Given the description of an element on the screen output the (x, y) to click on. 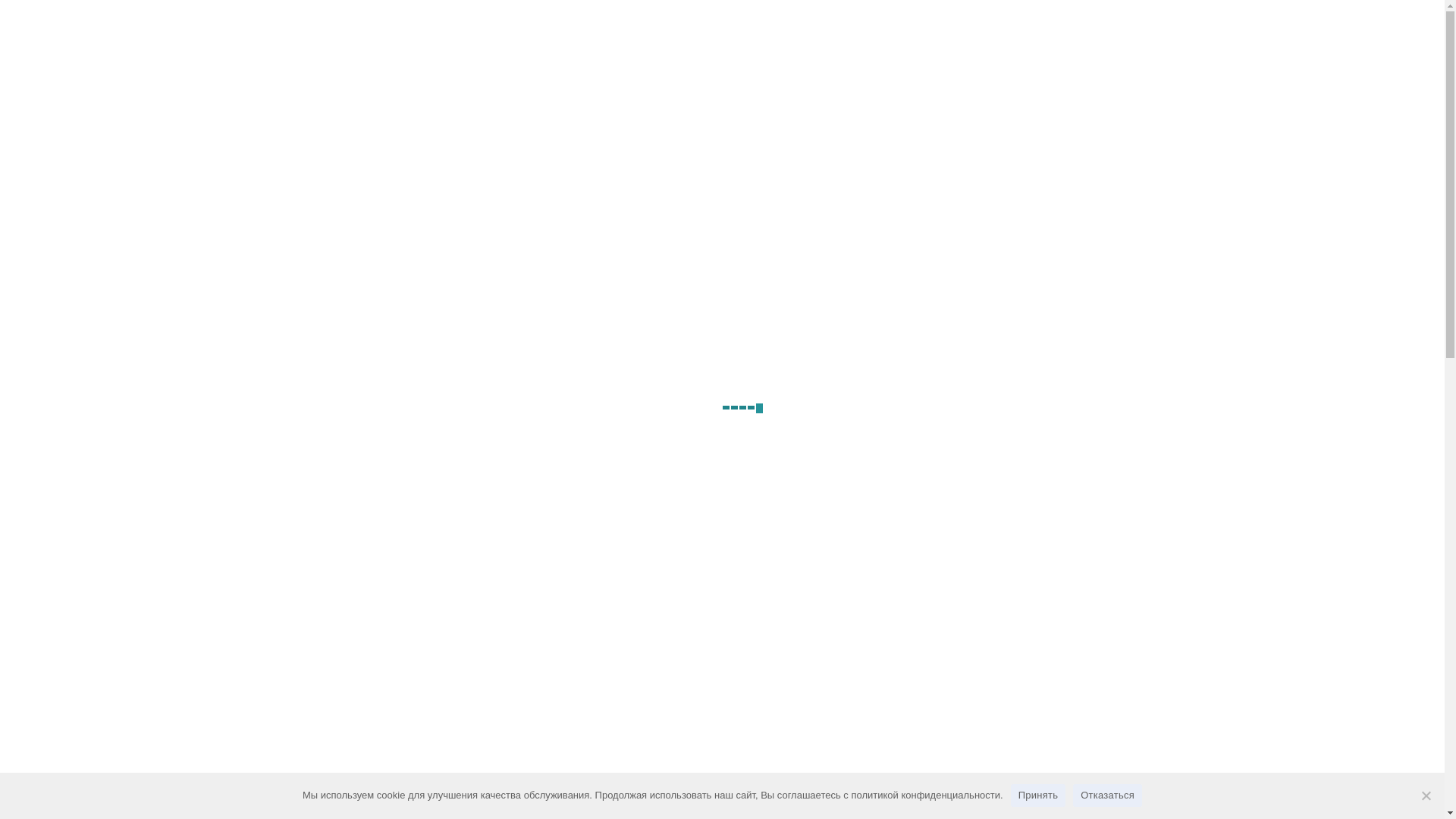
 shop@furordecor.by Element type: text (530, 14)
+375 33 637 99 88 Element type: text (418, 14)
Furor Decor Element type: text (388, 120)
+375 29 637 99 88 Element type: text (309, 14)
Instagram Element type: text (1165, 14)
0 Element type: text (1112, 68)
